Given the description of an element on the screen output the (x, y) to click on. 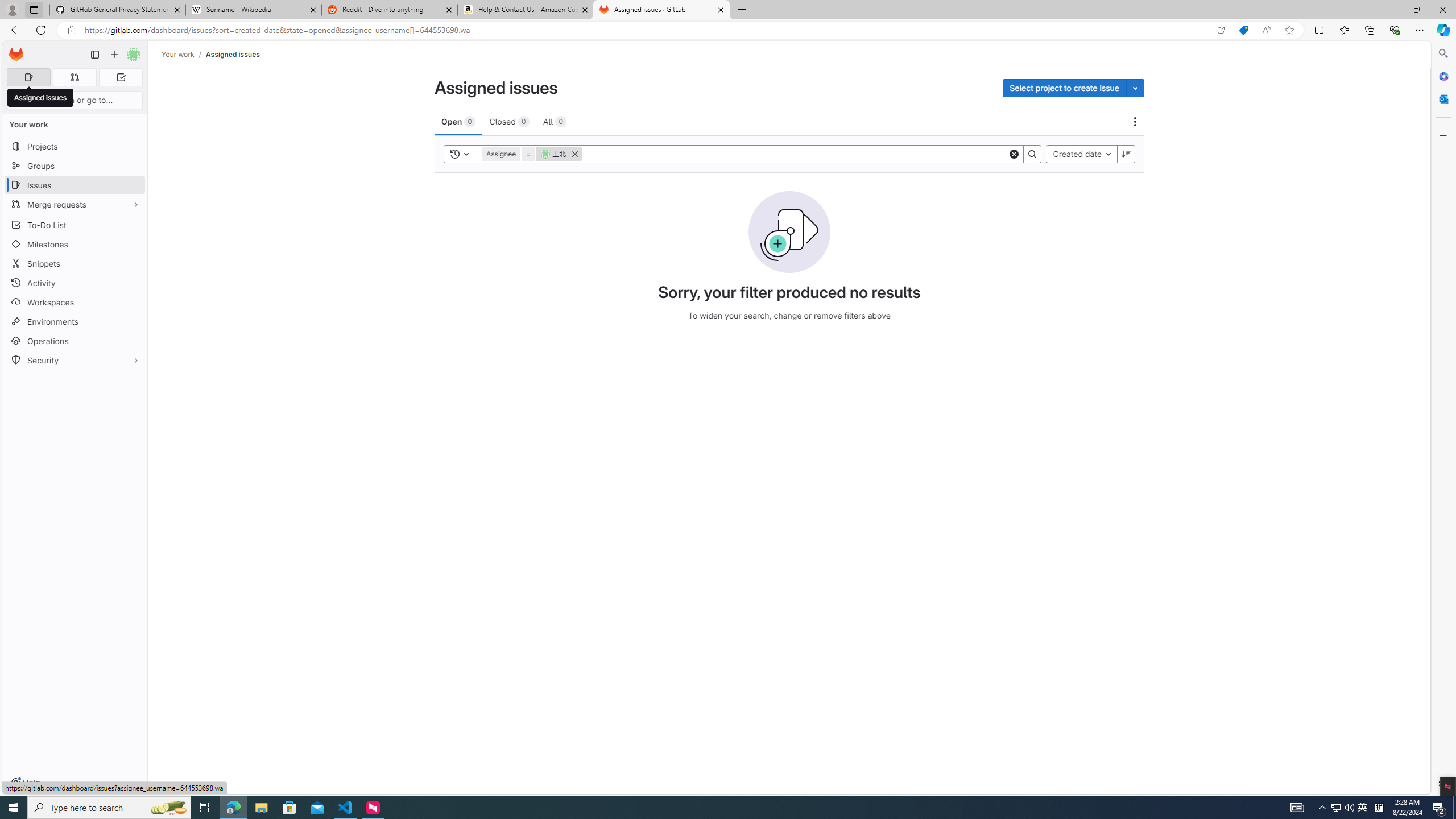
Snippets (74, 262)
Closed 0 (508, 121)
Operations (74, 340)
Shopping in Microsoft Edge (1243, 29)
Toggle history (460, 153)
Merge requests 0 (74, 76)
To-Do List (74, 224)
Assigned issues (232, 53)
Open 0 (458, 121)
Primary navigation sidebar (94, 54)
Snippets (74, 262)
